Given the description of an element on the screen output the (x, y) to click on. 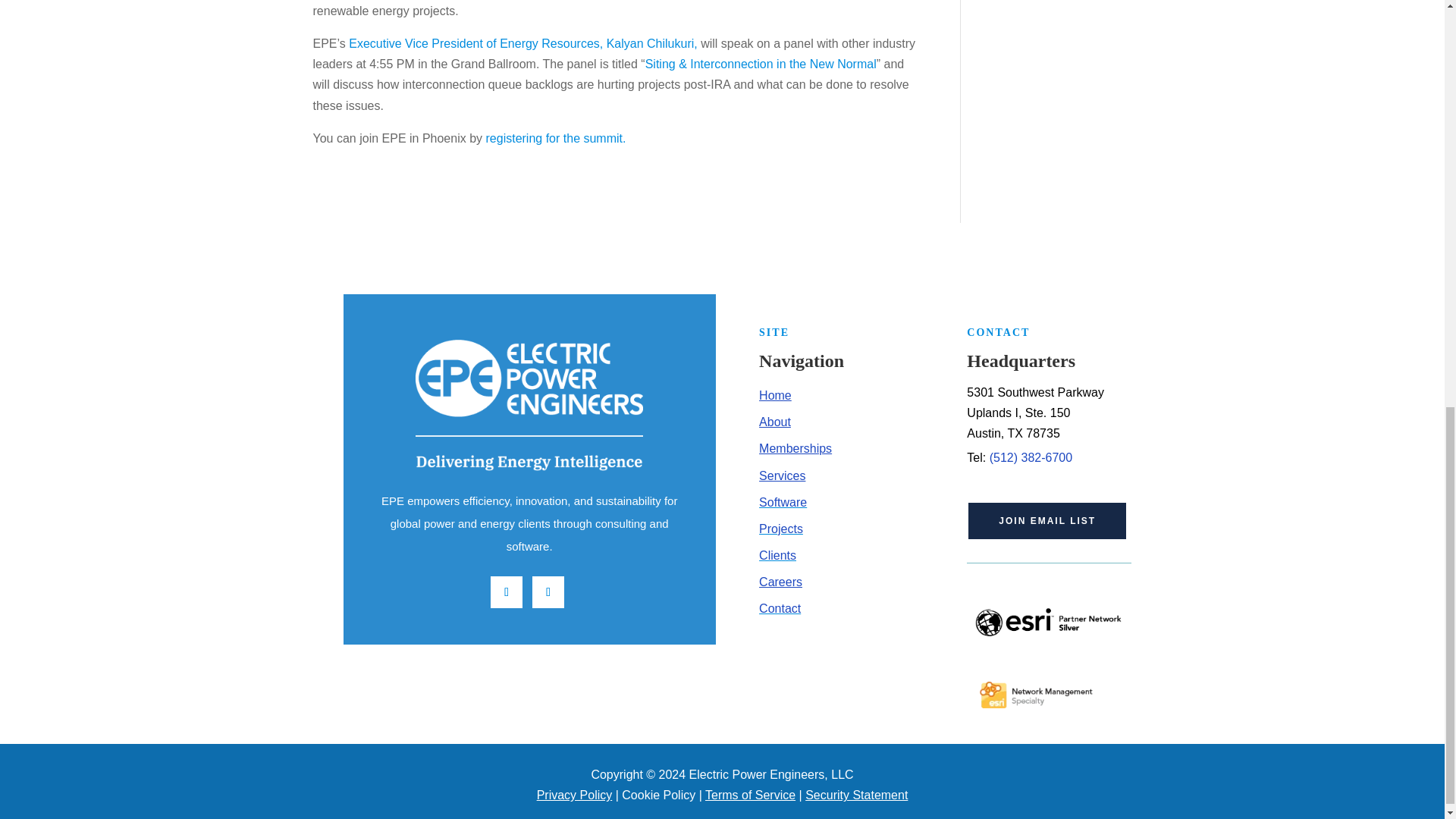
Follow on LinkedIn (506, 592)
NetworkManagement-LightBackground-small (1048, 694)
Follow on Facebook (548, 592)
